Given the description of an element on the screen output the (x, y) to click on. 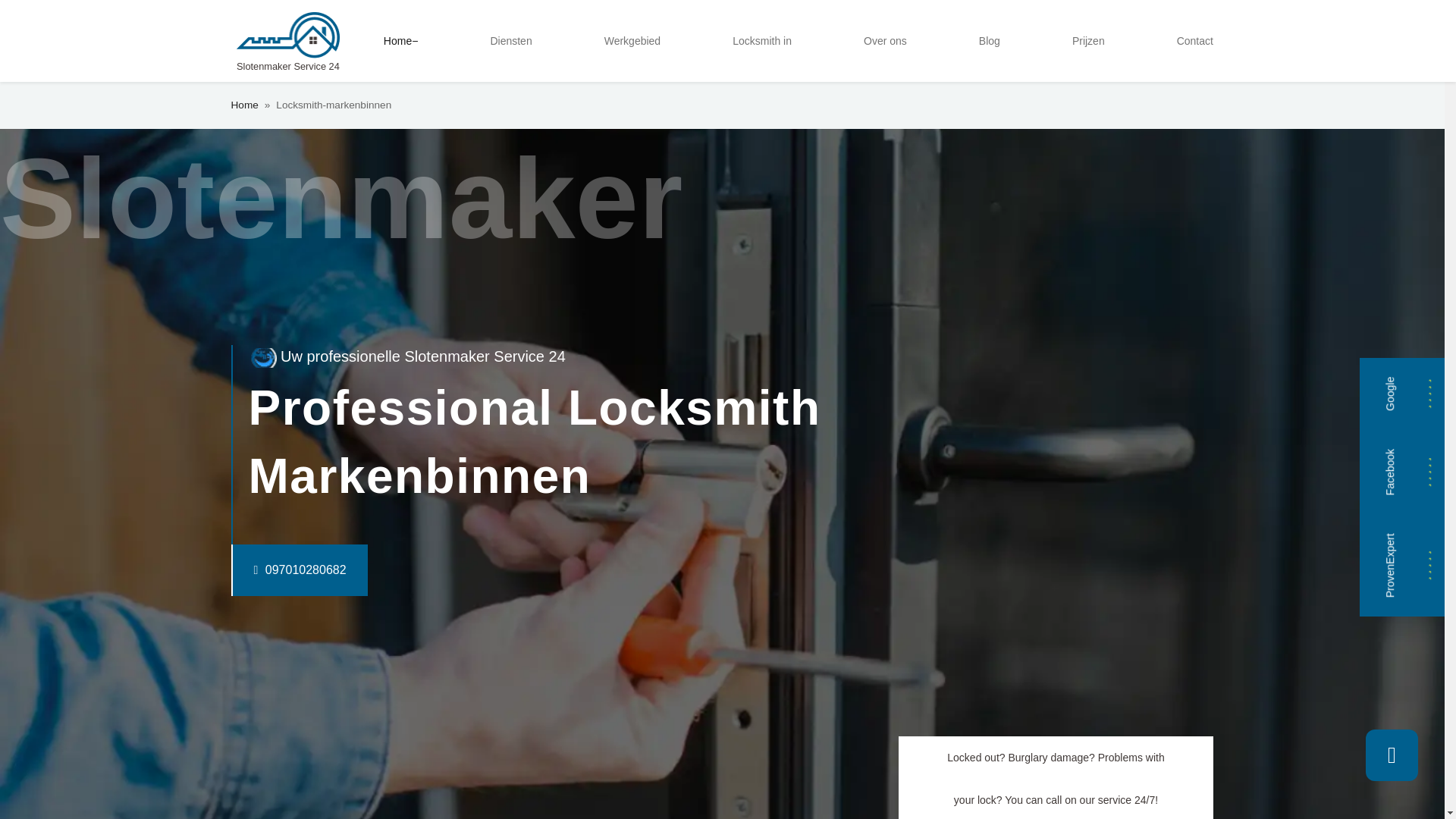
Slotenmaker Service 24 (287, 40)
Prijzen (1087, 40)
097010280682 (268, 570)
Locksmith in (761, 40)
Diensten (510, 40)
Werkgebied (632, 40)
Home (401, 40)
Blog (989, 40)
Contact (1195, 40)
Home (243, 105)
Over ons (884, 40)
